Given the description of an element on the screen output the (x, y) to click on. 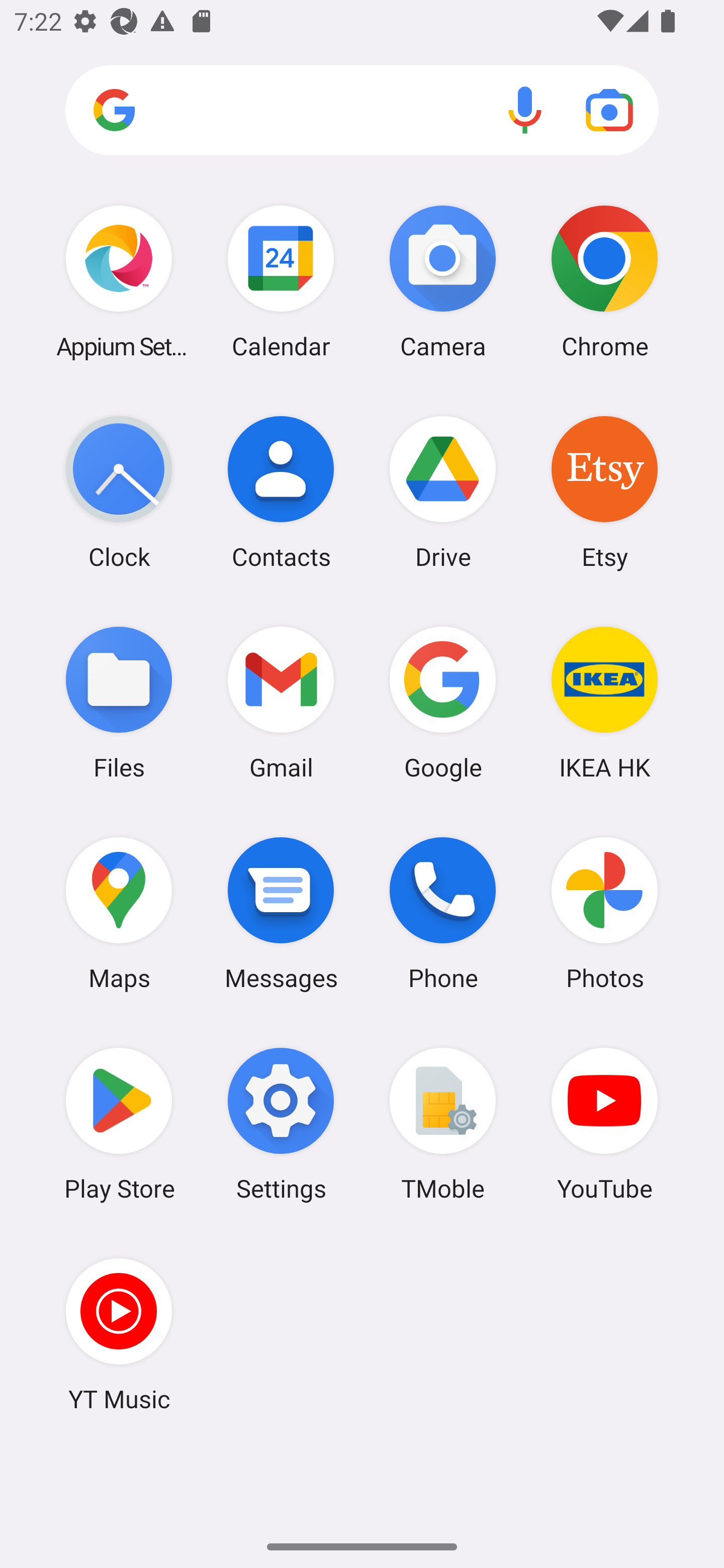
Search apps, web and more (361, 110)
Voice search (524, 109)
Google Lens (608, 109)
Appium Settings (118, 281)
Calendar (280, 281)
Camera (443, 281)
Chrome (604, 281)
Clock (118, 492)
Contacts (280, 492)
Drive (443, 492)
Etsy (604, 492)
Files (118, 702)
Gmail (280, 702)
Google (443, 702)
IKEA HK (604, 702)
Maps (118, 913)
Messages (280, 913)
Phone (443, 913)
Photos (604, 913)
Play Store (118, 1124)
Settings (280, 1124)
TMoble (443, 1124)
YouTube (604, 1124)
YT Music (118, 1334)
